Given the description of an element on the screen output the (x, y) to click on. 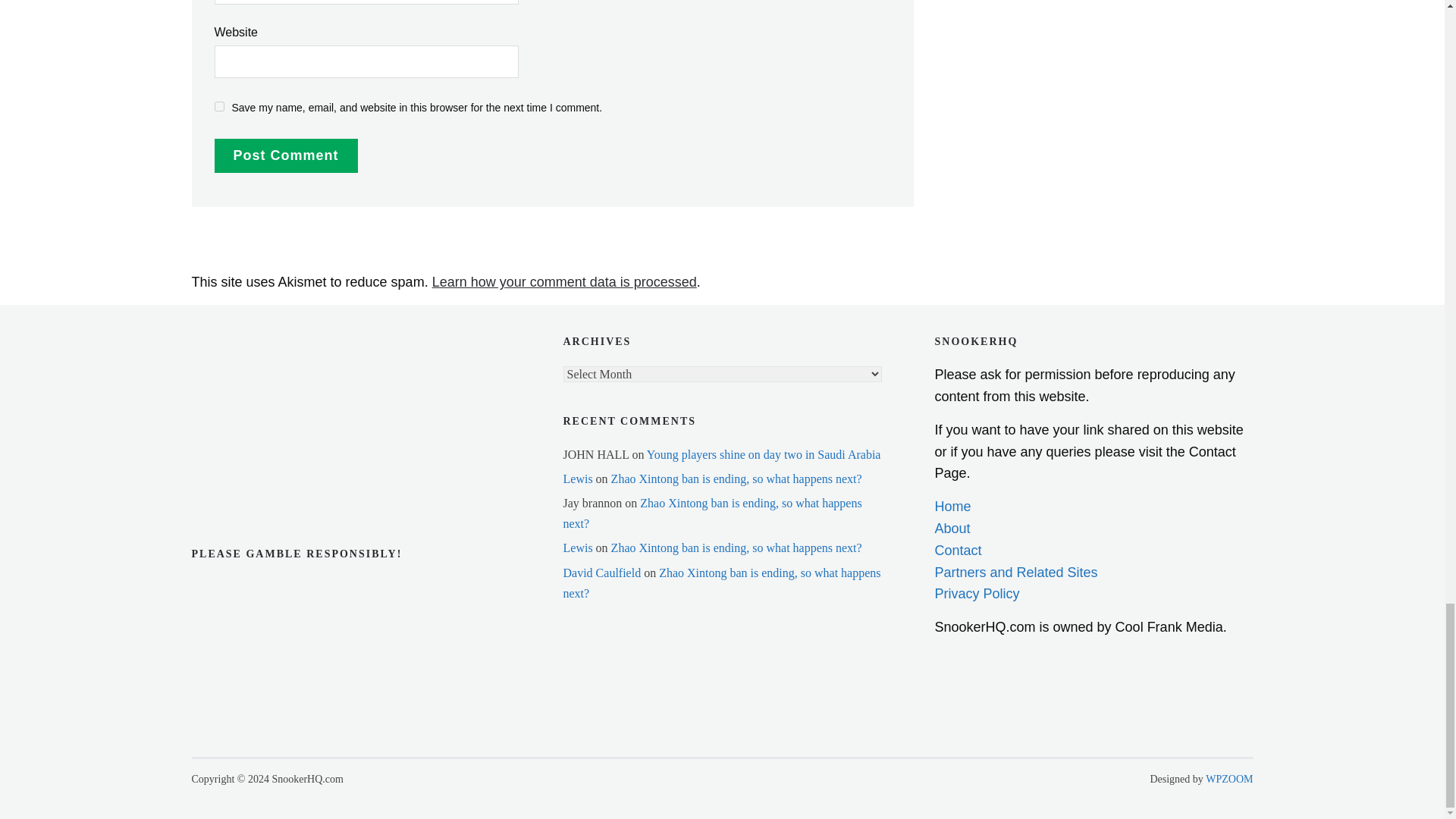
yes (219, 106)
nongamstopbets-sports-betting (266, 390)
Post Comment (285, 155)
non-gamstop-betting-sites (266, 436)
ngc-uk-betting-sites-not-on-gamstop (266, 345)
